Given the description of an element on the screen output the (x, y) to click on. 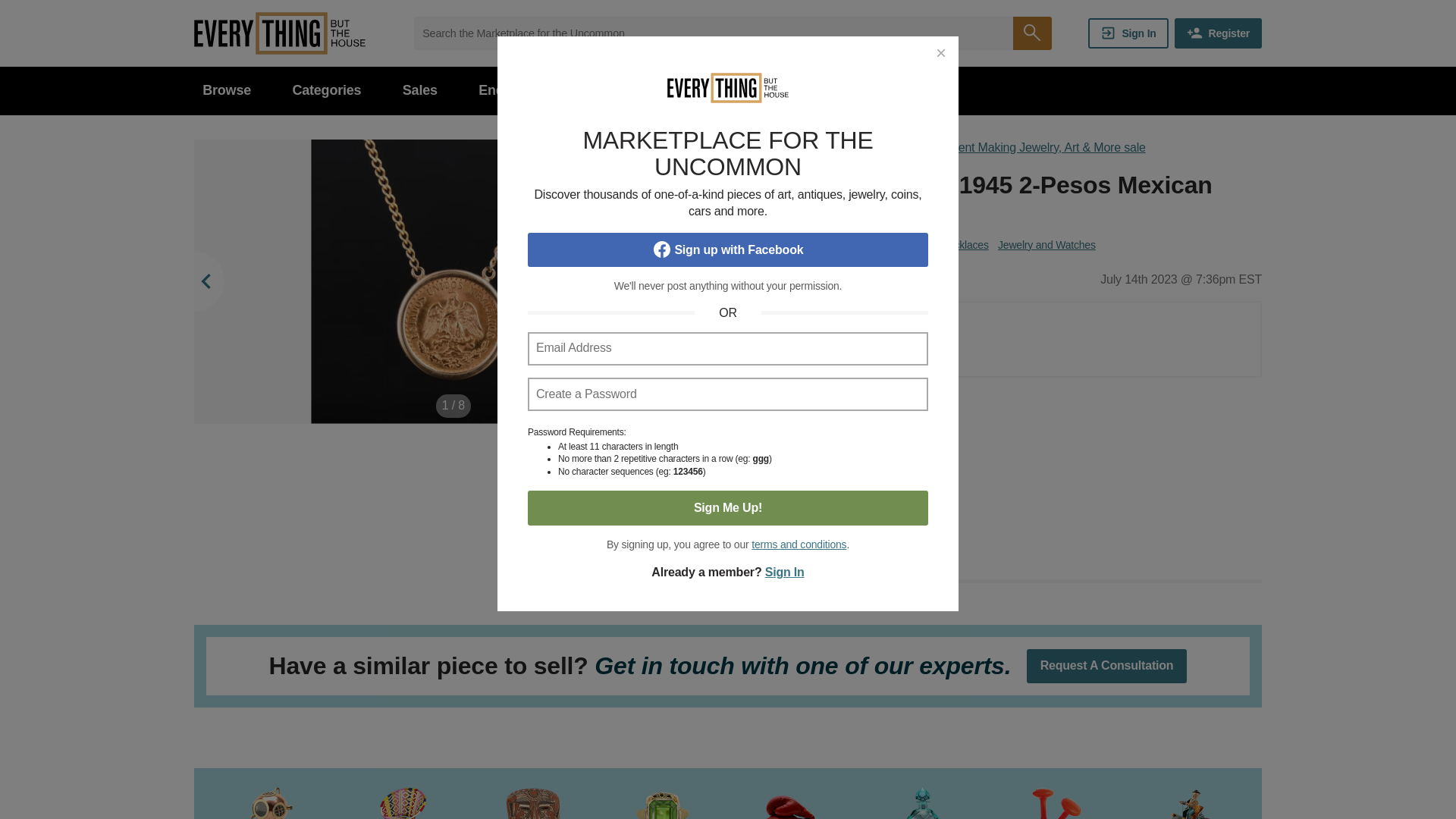
Search Input (713, 32)
Sales (419, 90)
Request A Consultation (1107, 666)
Coins and Currency (886, 244)
Browse (226, 90)
29 Bids (850, 354)
View all items in the Necklaces category (964, 244)
View all items in the Coins and Currency category (886, 244)
Featured (683, 90)
View all items in the Jewelry and Watches category (1046, 244)
Collectibles (804, 244)
Jewelry and Watches (1046, 244)
Read More (1002, 595)
View all items in the Collectibles category (804, 244)
View all items in the Coins category (756, 244)
